Given the description of an element on the screen output the (x, y) to click on. 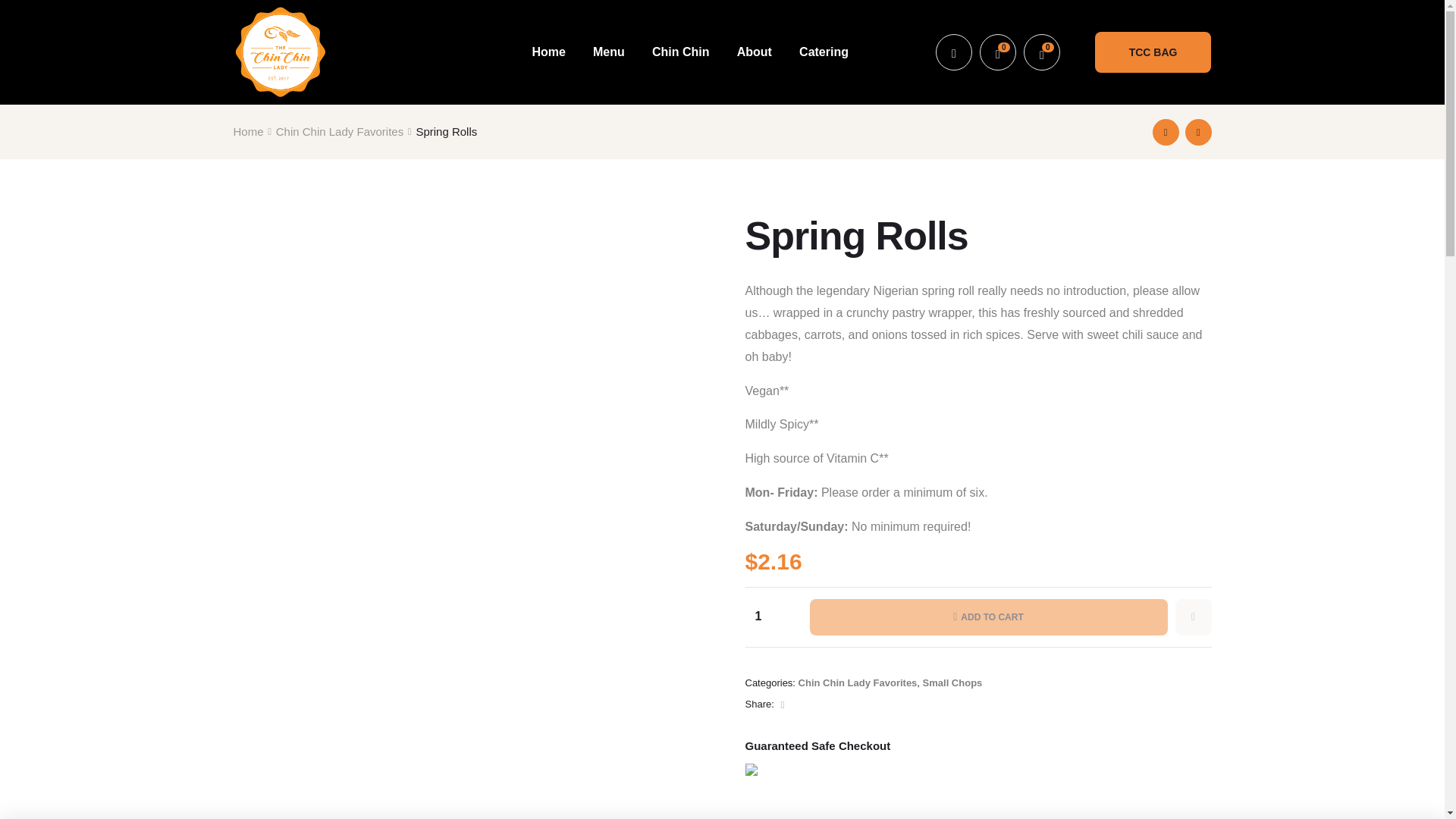
0 (997, 52)
Chin Chin Lady Favorites (339, 131)
Home (247, 131)
Chin Chin (681, 52)
About (754, 52)
TCC BAG (1152, 51)
Chin Chin Lady Favorites (857, 682)
Home (547, 52)
ADD TO WISHLIST (1192, 616)
Share on facebook (781, 704)
